Given the description of an element on the screen output the (x, y) to click on. 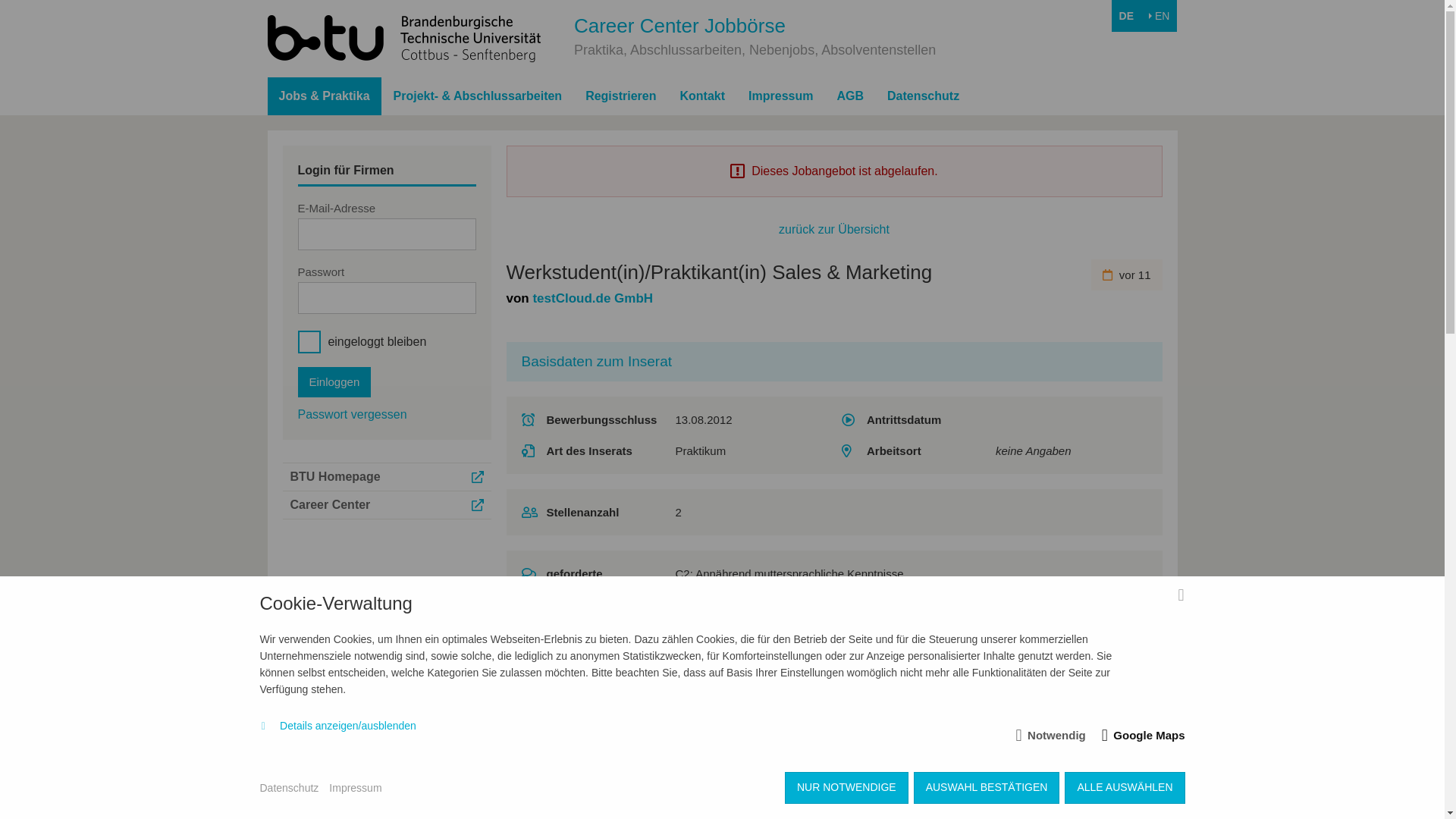
Jobs & Praktika Element type: text (323, 96)
Registrieren Element type: text (620, 96)
Einloggen Element type: text (333, 382)
NUR NOTWENDIGE Element type: text (846, 787)
Impressum Element type: text (780, 96)
Kontakt Element type: text (702, 96)
Datenschutz Element type: text (922, 96)
Passwort vergessen Element type: text (351, 413)
Datenschutz Element type: text (288, 787)
Impressum Element type: text (355, 787)
testCloud.de GmbH Element type: text (592, 298)
Details anzeigen/ausblenden Element type: text (337, 726)
Projekt- & Abschlussarbeiten Element type: text (478, 96)
Career Center Element type: text (386, 505)
BTU Homepage Element type: text (386, 476)
EN Element type: text (1158, 15)
AGB Element type: text (850, 96)
